Given the description of an element on the screen output the (x, y) to click on. 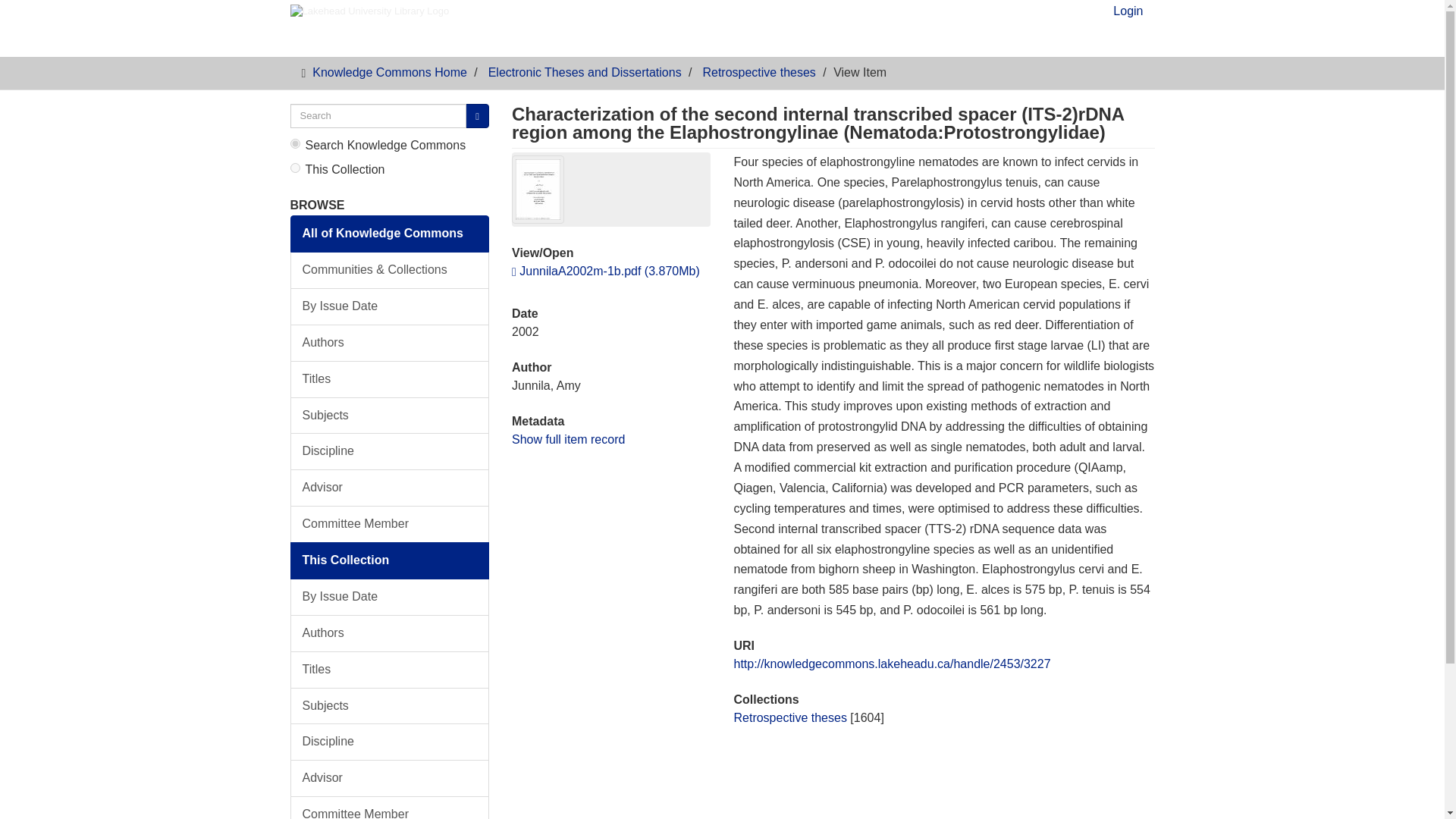
Retrospective theses (789, 717)
This Collection (389, 560)
All of Knowledge Commons (389, 233)
Show full item record (568, 438)
Knowledge Commons Home (390, 72)
Subjects (389, 705)
Authors (389, 633)
Discipline (389, 451)
By Issue Date (389, 596)
Go (477, 116)
